Given the description of an element on the screen output the (x, y) to click on. 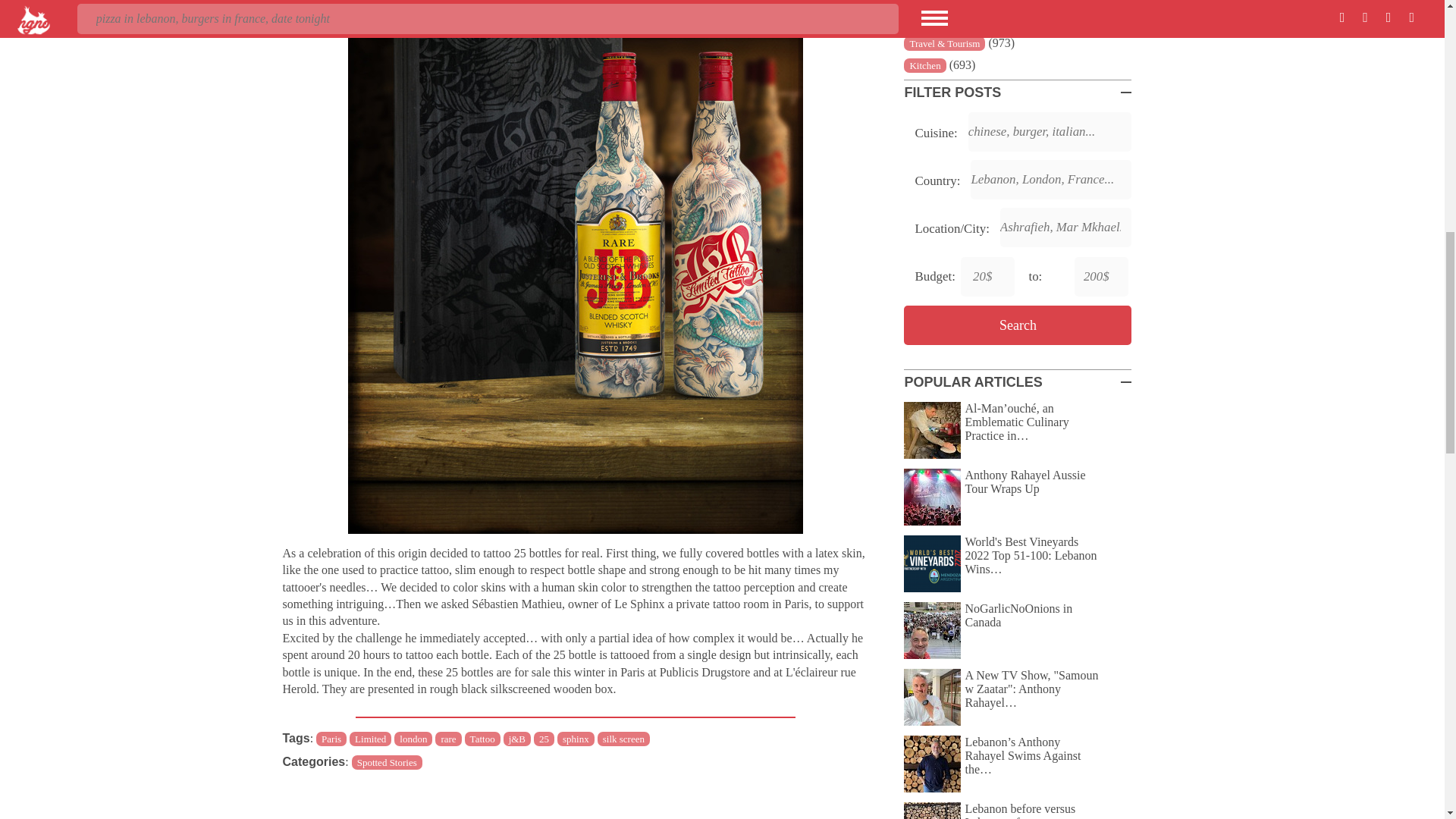
Search (1017, 324)
